Given the description of an element on the screen output the (x, y) to click on. 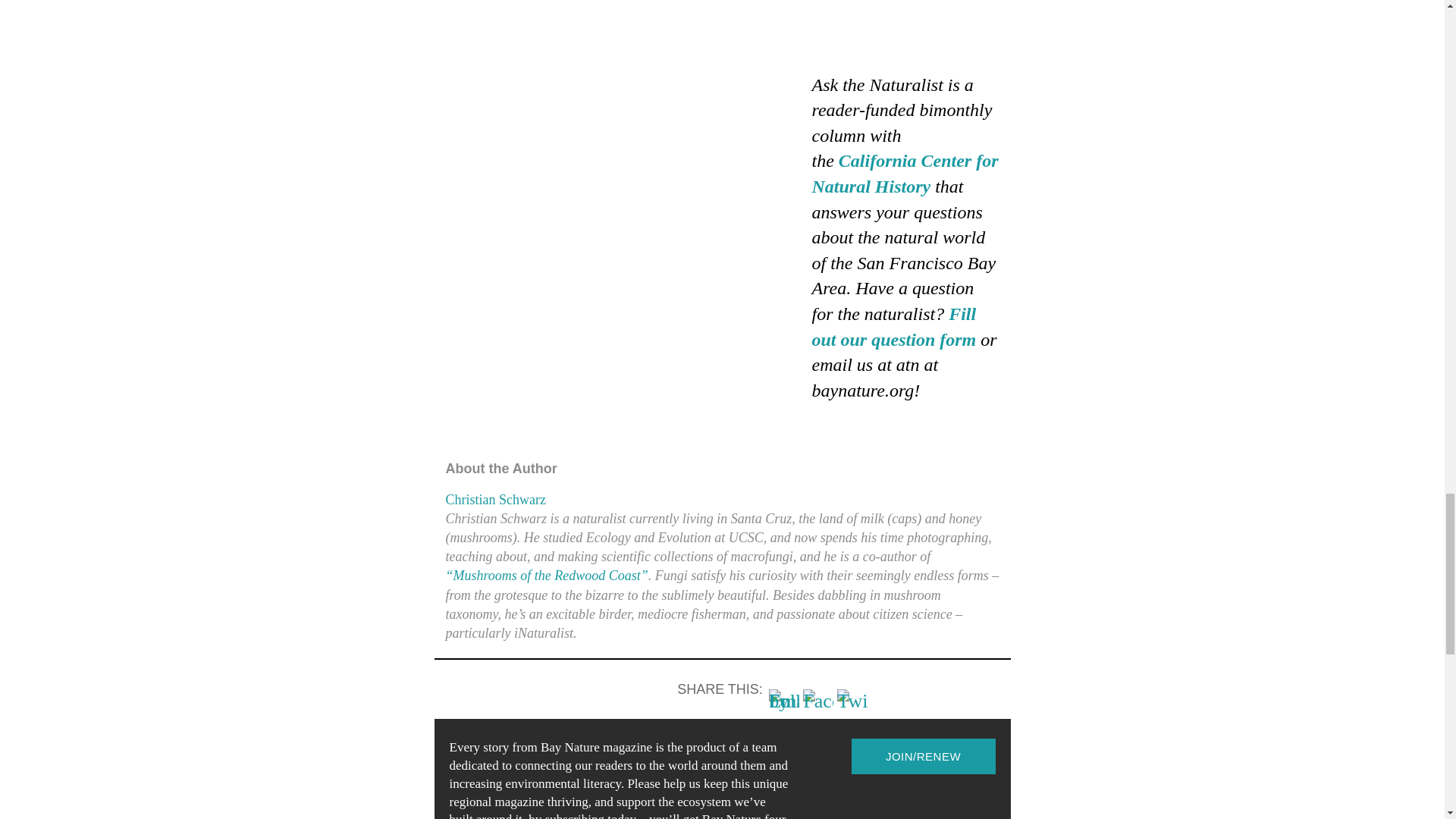
Follow by Email (783, 704)
Twitter (852, 704)
Subscribe (922, 755)
Posts by Christian Schwarz (495, 499)
Facebook (817, 704)
Christian Schwarz (495, 499)
Fill out our question form (892, 326)
California Center for Natural History (903, 173)
